Given the description of an element on the screen output the (x, y) to click on. 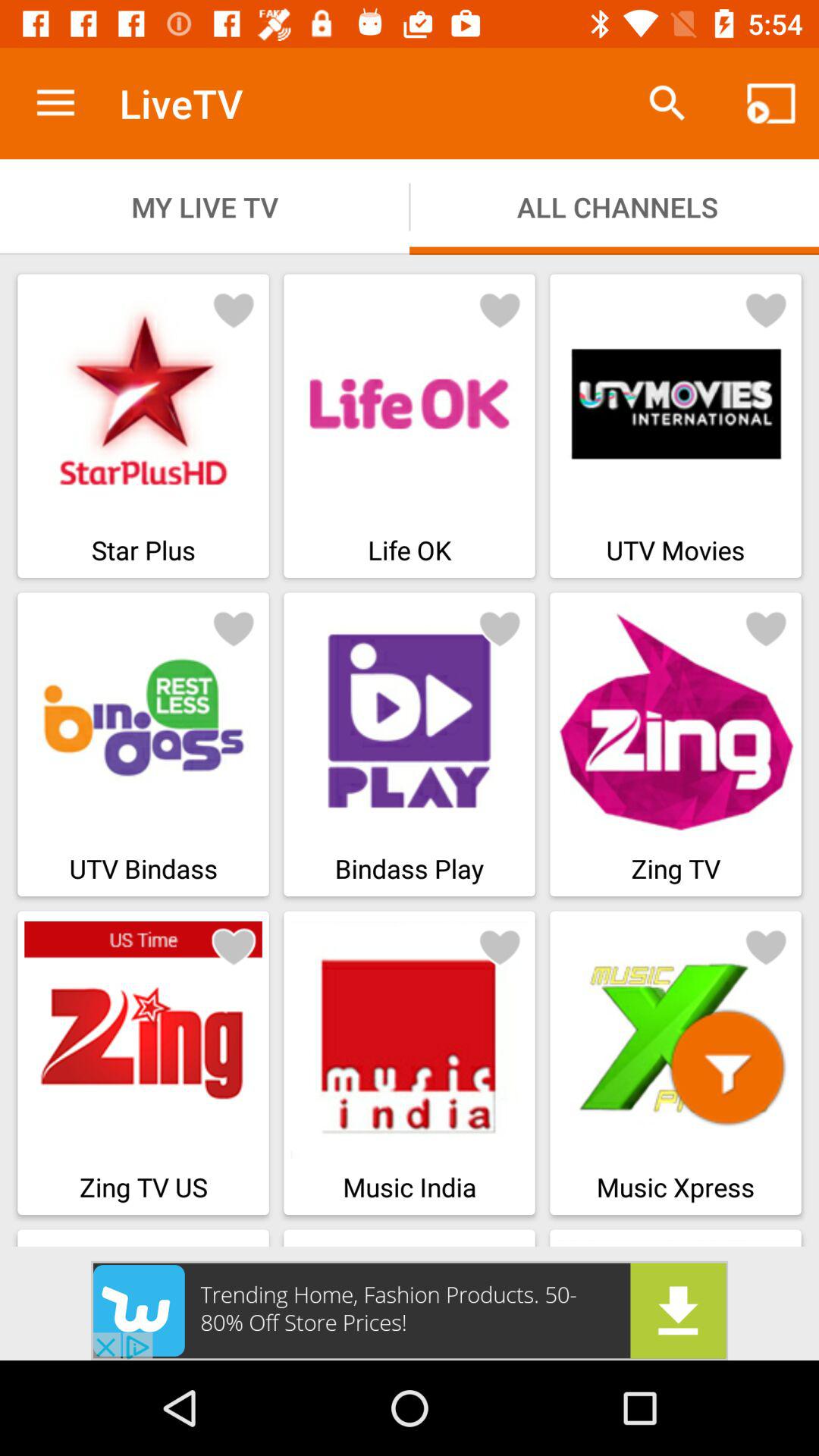
heart page (499, 627)
